Given the description of an element on the screen output the (x, y) to click on. 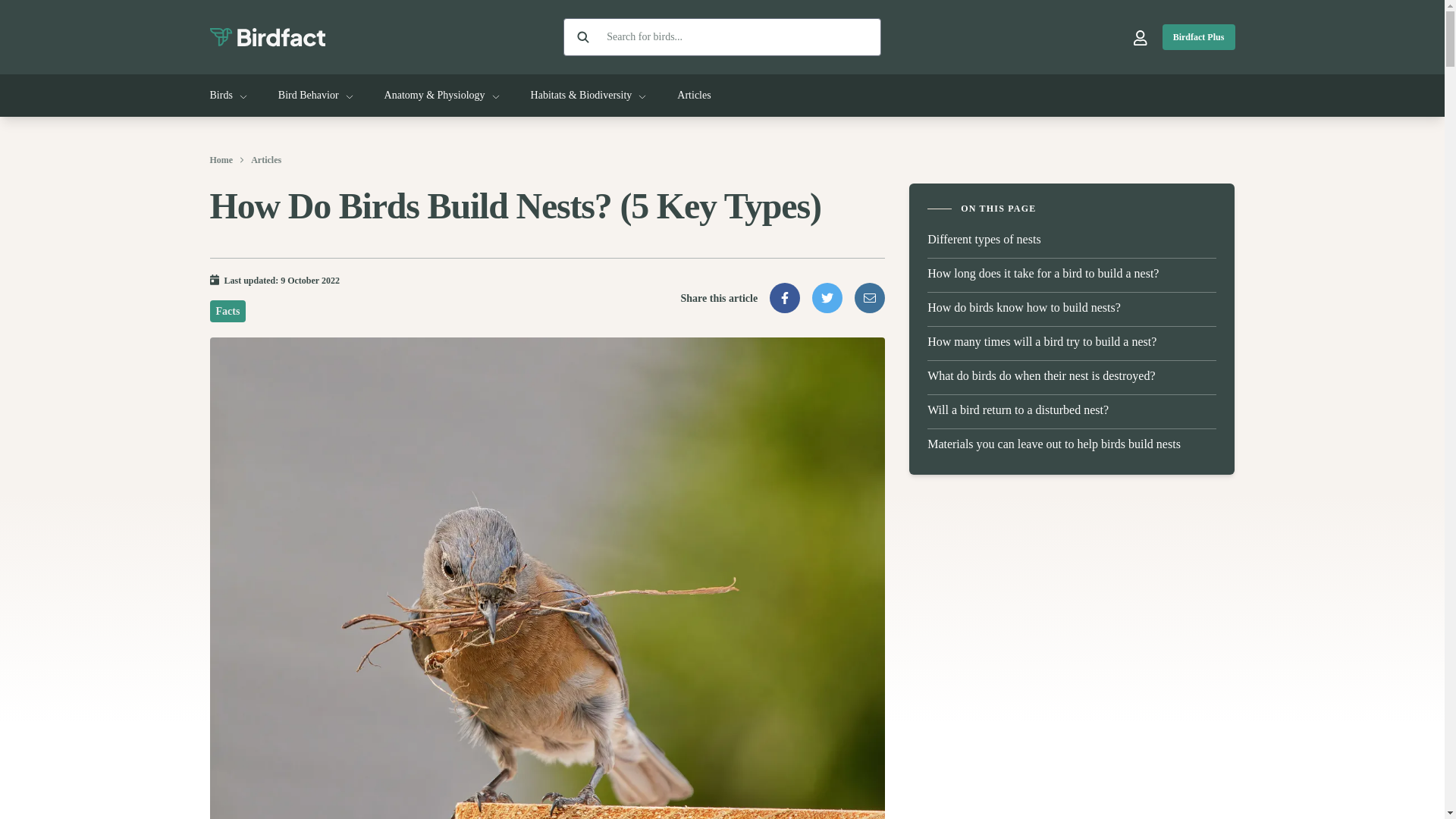
Articles (693, 95)
Bird Behavior (315, 95)
All Birds (228, 95)
Birdfact Plus (1197, 36)
Birds (228, 95)
Bird Behavior (315, 95)
